Given the description of an element on the screen output the (x, y) to click on. 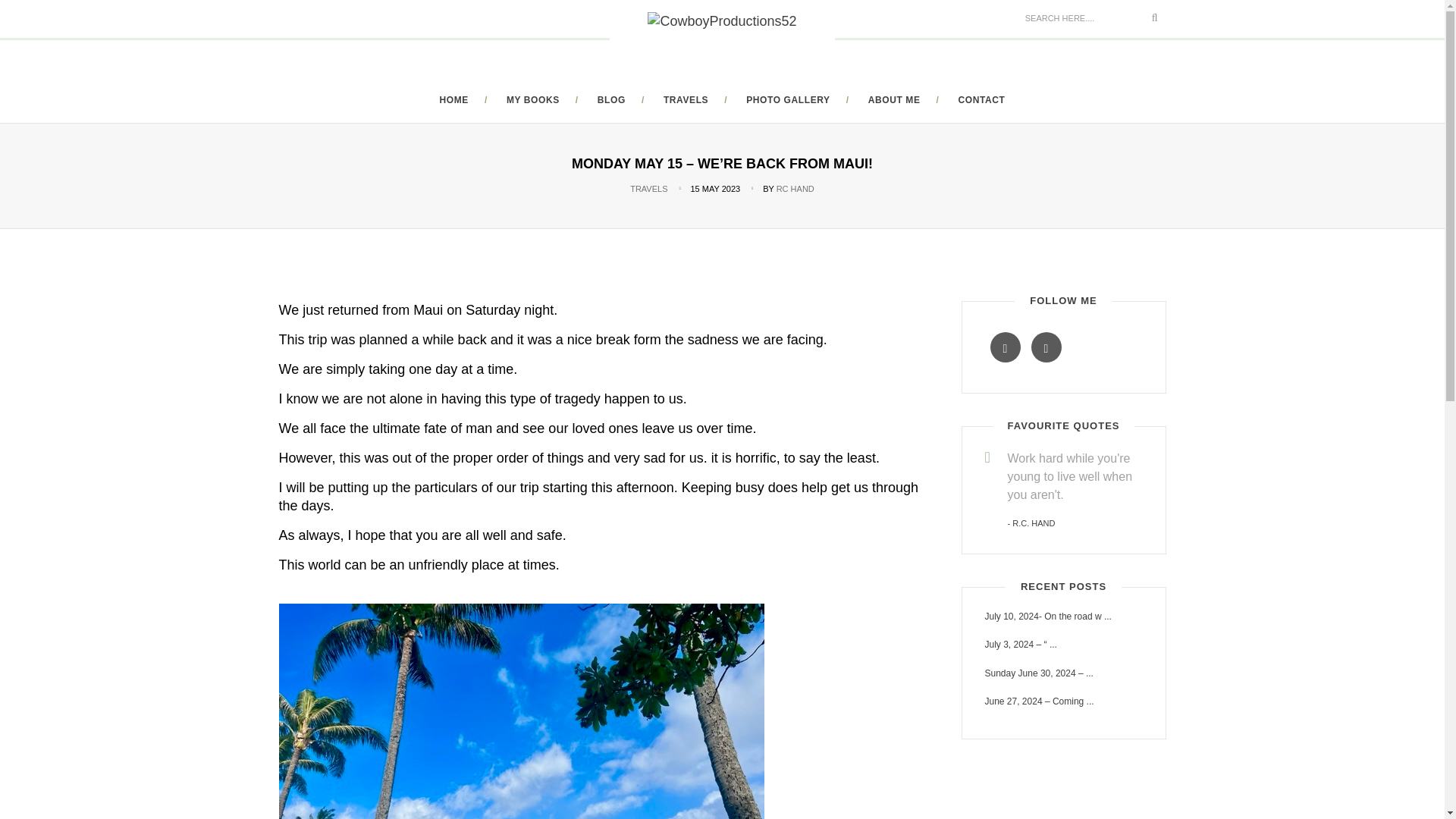
BLOG (611, 100)
TRAVELS (648, 188)
PHOTO GALLERY (787, 100)
HOME (453, 100)
MY BOOKS (532, 100)
ABOUT ME (893, 100)
CONTACT (982, 100)
July 10, 2024- On the road w ... (1062, 616)
RC HAND (794, 188)
TRAVELS (685, 100)
